Given the description of an element on the screen output the (x, y) to click on. 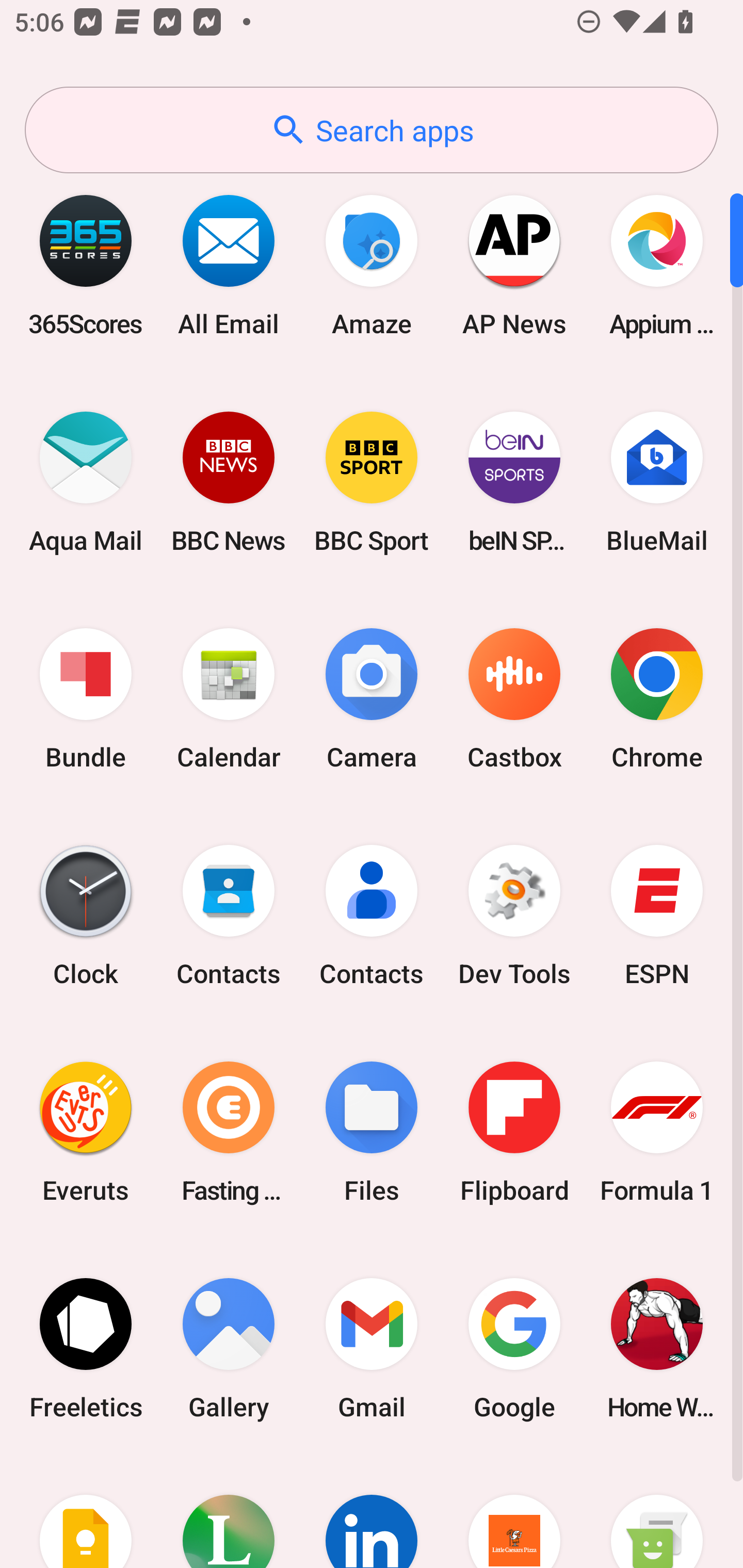
  Search apps (371, 130)
365Scores (85, 264)
All Email (228, 264)
Amaze (371, 264)
AP News (514, 264)
Appium Settings (656, 264)
Aqua Mail (85, 482)
BBC News (228, 482)
BBC Sport (371, 482)
beIN SPORTS (514, 482)
BlueMail (656, 482)
Bundle (85, 699)
Calendar (228, 699)
Camera (371, 699)
Castbox (514, 699)
Chrome (656, 699)
Clock (85, 915)
Contacts (228, 915)
Contacts (371, 915)
Dev Tools (514, 915)
ESPN (656, 915)
Everuts (85, 1131)
Fasting Coach (228, 1131)
Files (371, 1131)
Flipboard (514, 1131)
Formula 1 (656, 1131)
Freeletics (85, 1348)
Gallery (228, 1348)
Gmail (371, 1348)
Google (514, 1348)
Home Workout (656, 1348)
Keep Notes (85, 1512)
Lifesum (228, 1512)
LinkedIn (371, 1512)
Little Caesars Pizza (514, 1512)
Messaging (656, 1512)
